Given the description of an element on the screen output the (x, y) to click on. 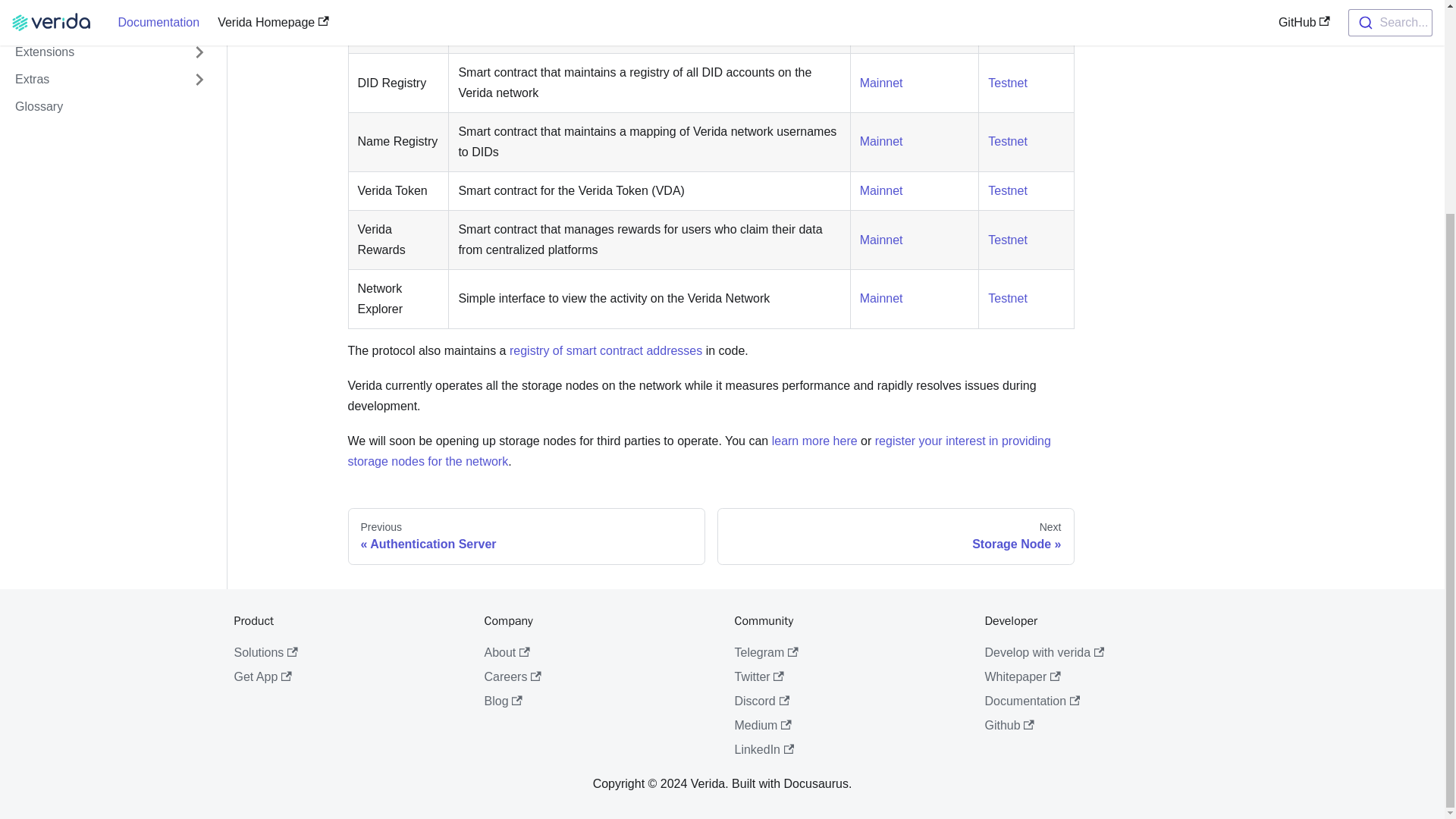
Testnet (1007, 23)
Testnet (1007, 82)
Extras (110, 29)
Mainnet (881, 190)
Extensions (110, 7)
Testnet (1007, 239)
Mainnet (881, 239)
learn more here (814, 440)
Glossary (110, 56)
Testnet (1007, 297)
Mainnet (881, 82)
Testnet (1007, 190)
registry of smart contract addresses (605, 350)
Testnet (1007, 141)
